Given the description of an element on the screen output the (x, y) to click on. 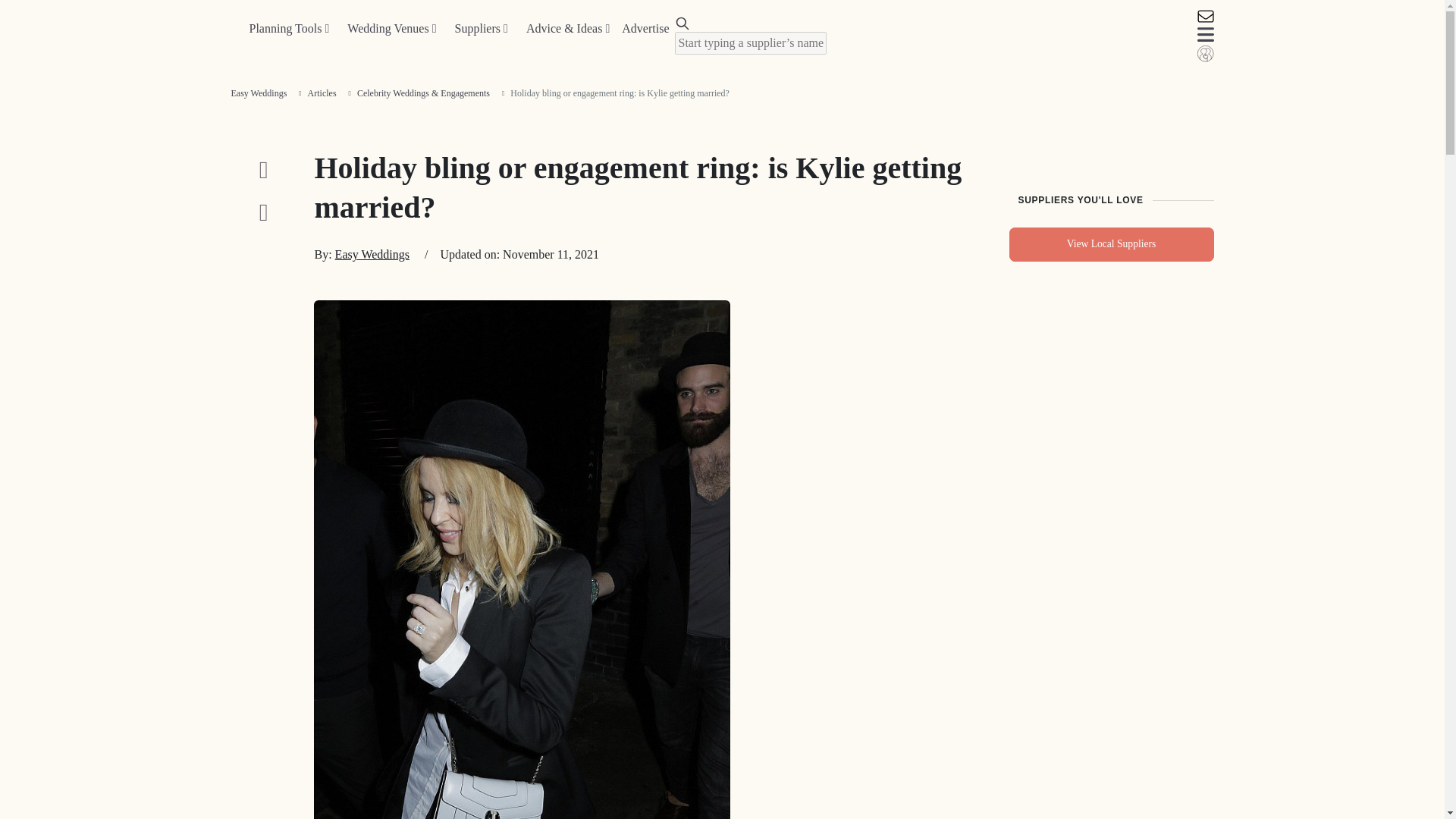
Wedding Venues (391, 28)
Suppliers (480, 28)
Planning Tools (288, 28)
Easy Weddings (371, 254)
Easy Weddings (258, 92)
Advertise (645, 28)
Articles (321, 92)
View Local Suppliers (1110, 244)
Share via Email (262, 212)
